Given the description of an element on the screen output the (x, y) to click on. 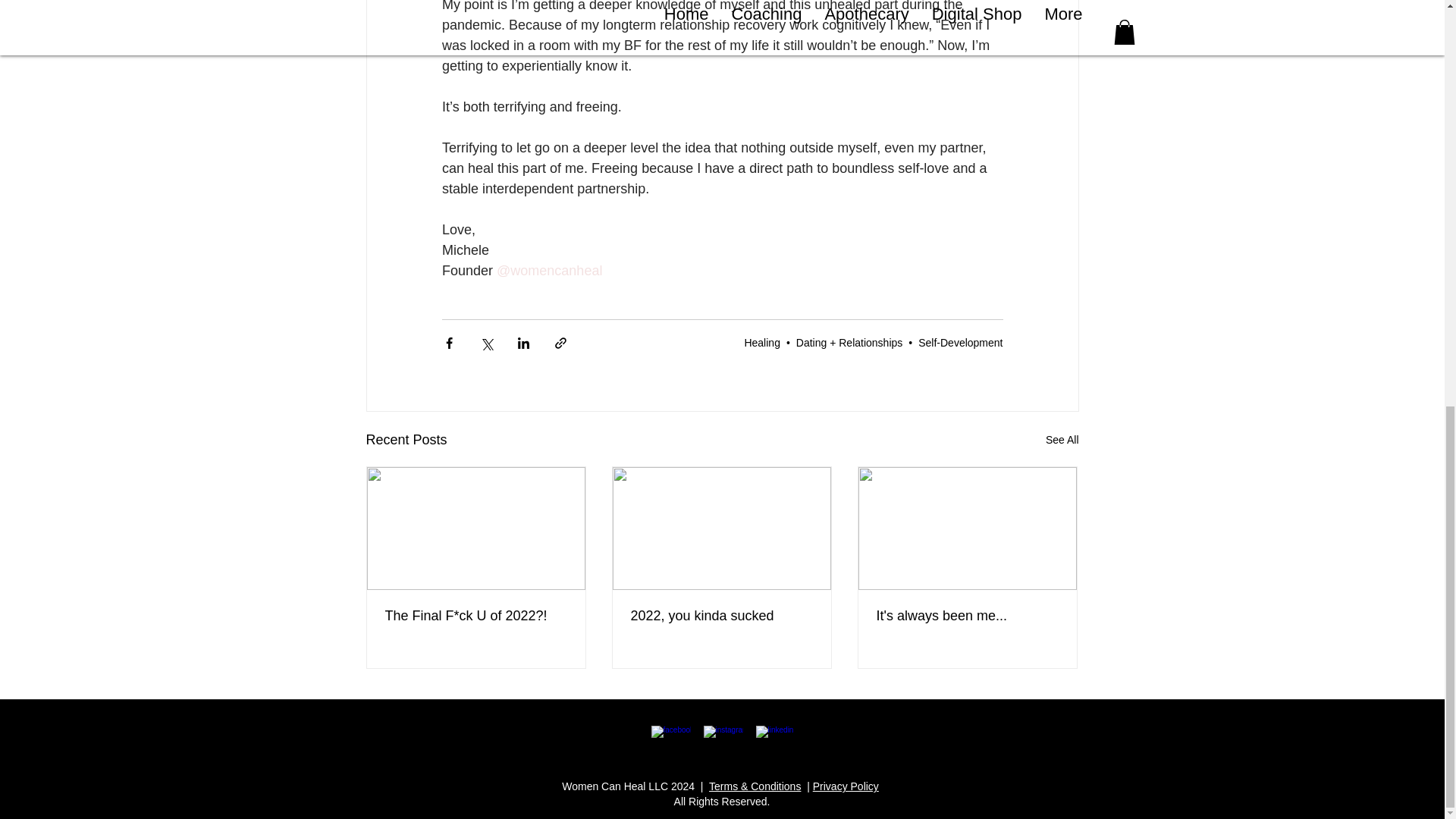
2022, you kinda sucked (721, 616)
Healing (761, 342)
Privacy Policy (845, 786)
It's always been me... (967, 616)
See All (1061, 440)
Self-Development (960, 342)
